Given the description of an element on the screen output the (x, y) to click on. 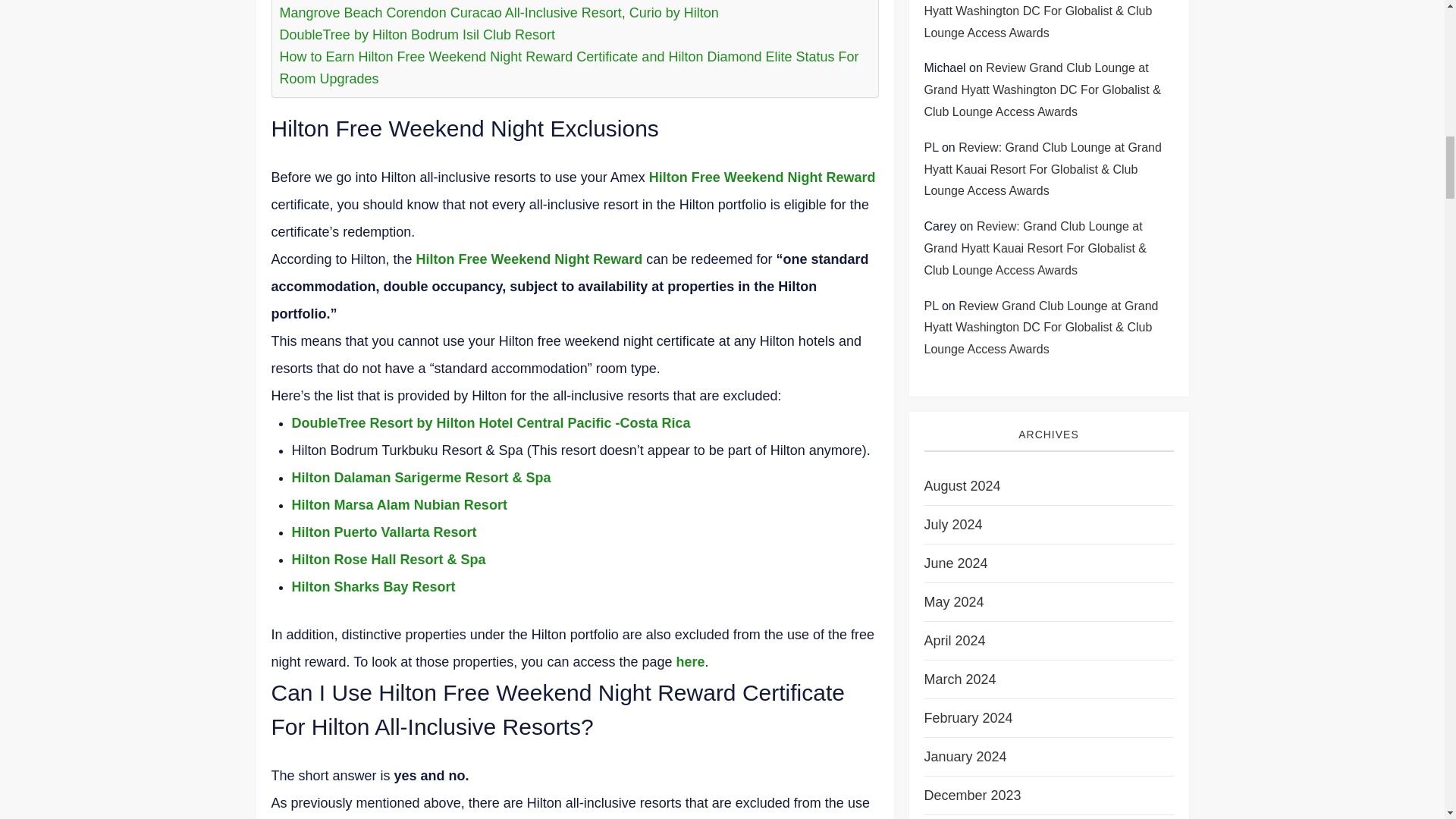
DoubleTree by Hilton Bodrum Isil Club Resort (416, 34)
